Given the description of an element on the screen output the (x, y) to click on. 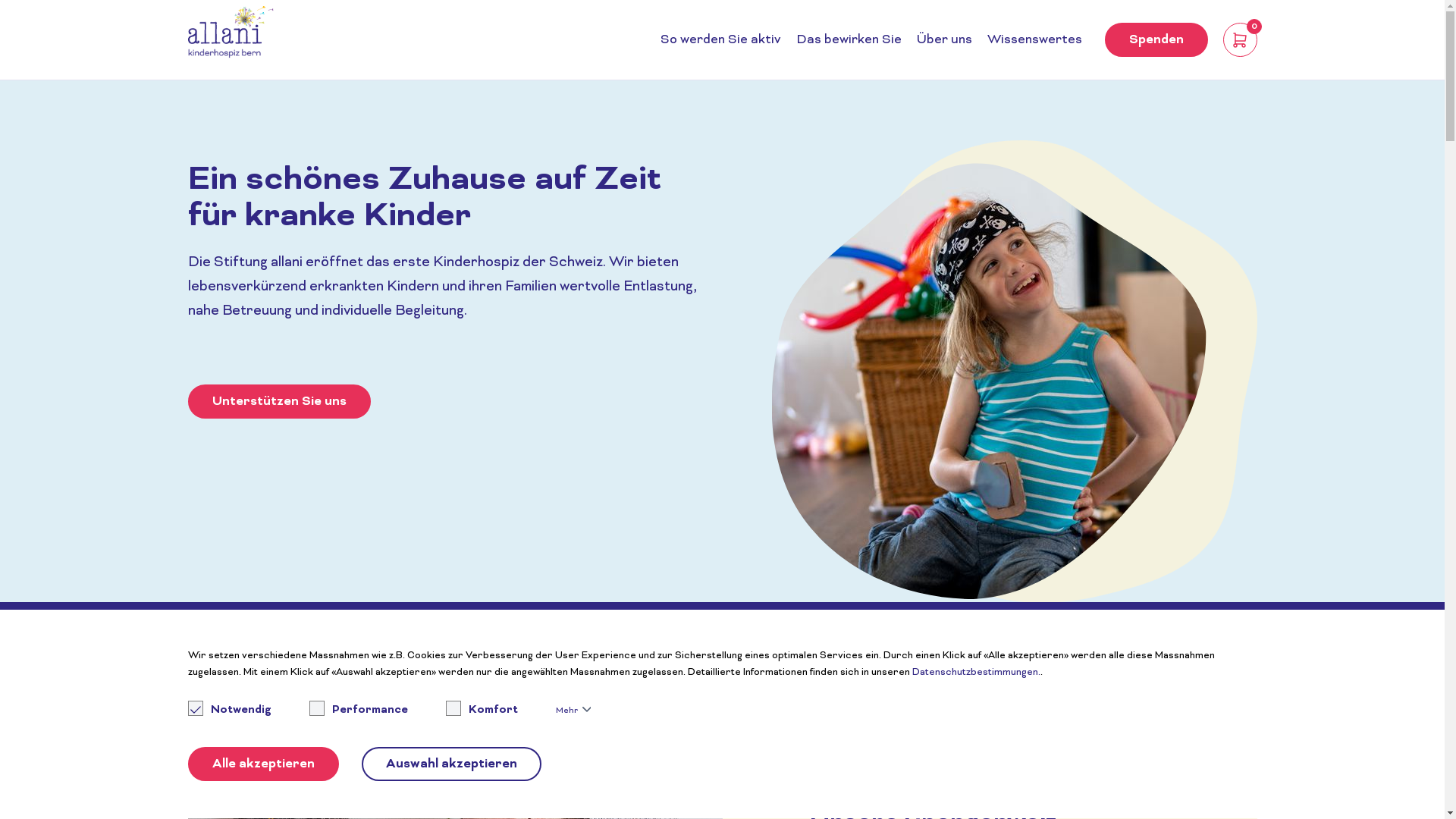
Auswahl akzeptieren Element type: text (450, 763)
So werden Sie aktiv Element type: text (719, 39)
Alle akzeptieren Element type: text (263, 763)
Das bewirken Sie Element type: text (848, 39)
Wissenswertes Element type: text (1034, 39)
Datenschutzbestimmungen. Element type: text (975, 673)
Spenden Element type: text (1155, 39)
